Given the description of an element on the screen output the (x, y) to click on. 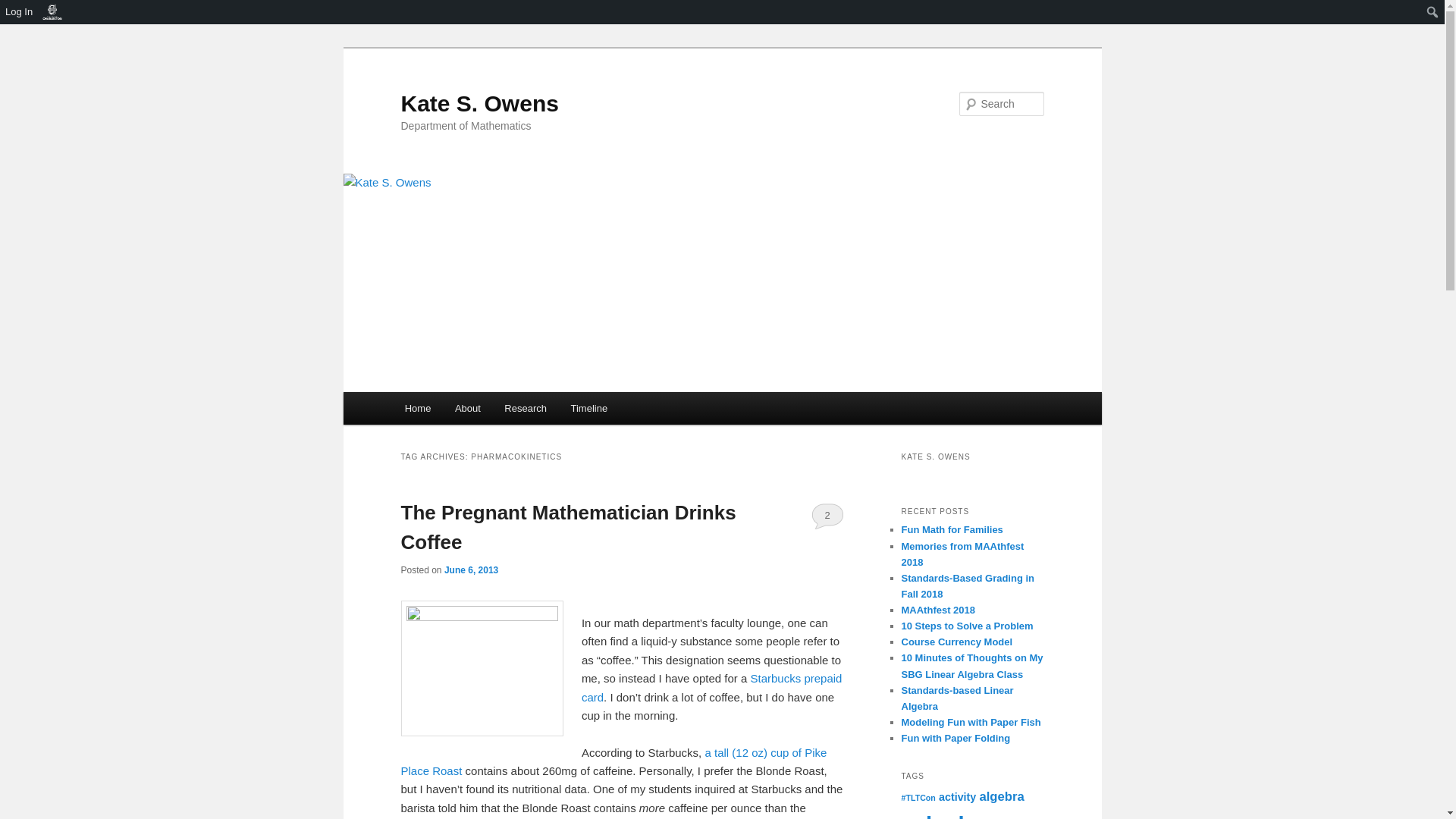
2 (827, 515)
Research (526, 408)
Search (16, 13)
The Pregnant Mathematician Drinks Coffee (567, 527)
Timeline (589, 408)
About WordPress (52, 12)
Starbucks prepaid card (711, 686)
About (467, 408)
Home (417, 408)
Log In (19, 12)
Search (24, 8)
11:15 am (470, 570)
Kate S. Owens (478, 103)
June 6, 2013 (470, 570)
